Given the description of an element on the screen output the (x, y) to click on. 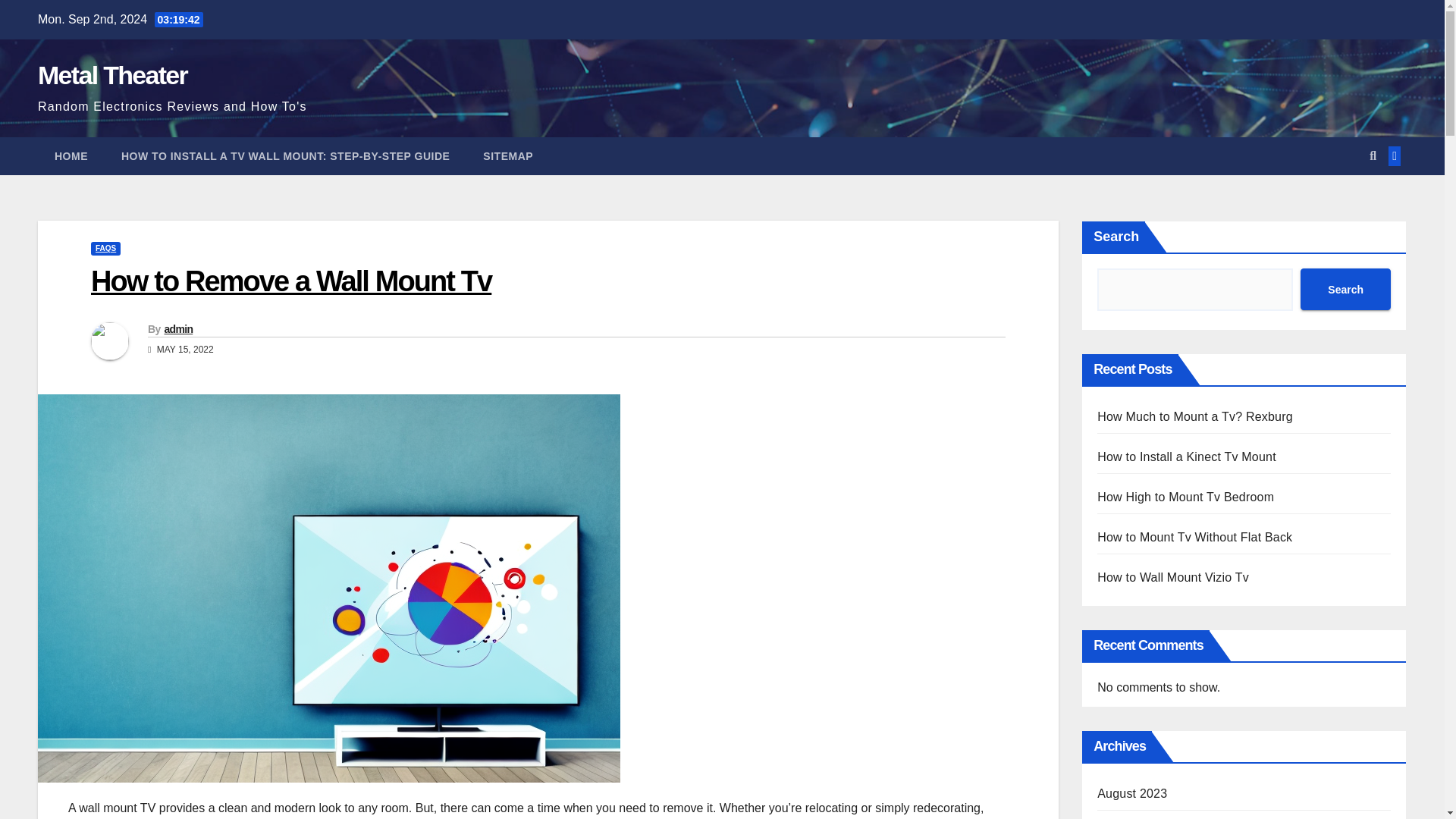
Home (70, 156)
HOW TO INSTALL A TV WALL MOUNT: STEP-BY-STEP GUIDE (284, 156)
admin (177, 328)
How to Remove a Wall Mount Tv (291, 281)
Metal Theater (112, 74)
SITEMAP (507, 156)
HOME (70, 156)
Permalink to: How to Remove a Wall Mount Tv (291, 281)
FAQS (105, 248)
